Given the description of an element on the screen output the (x, y) to click on. 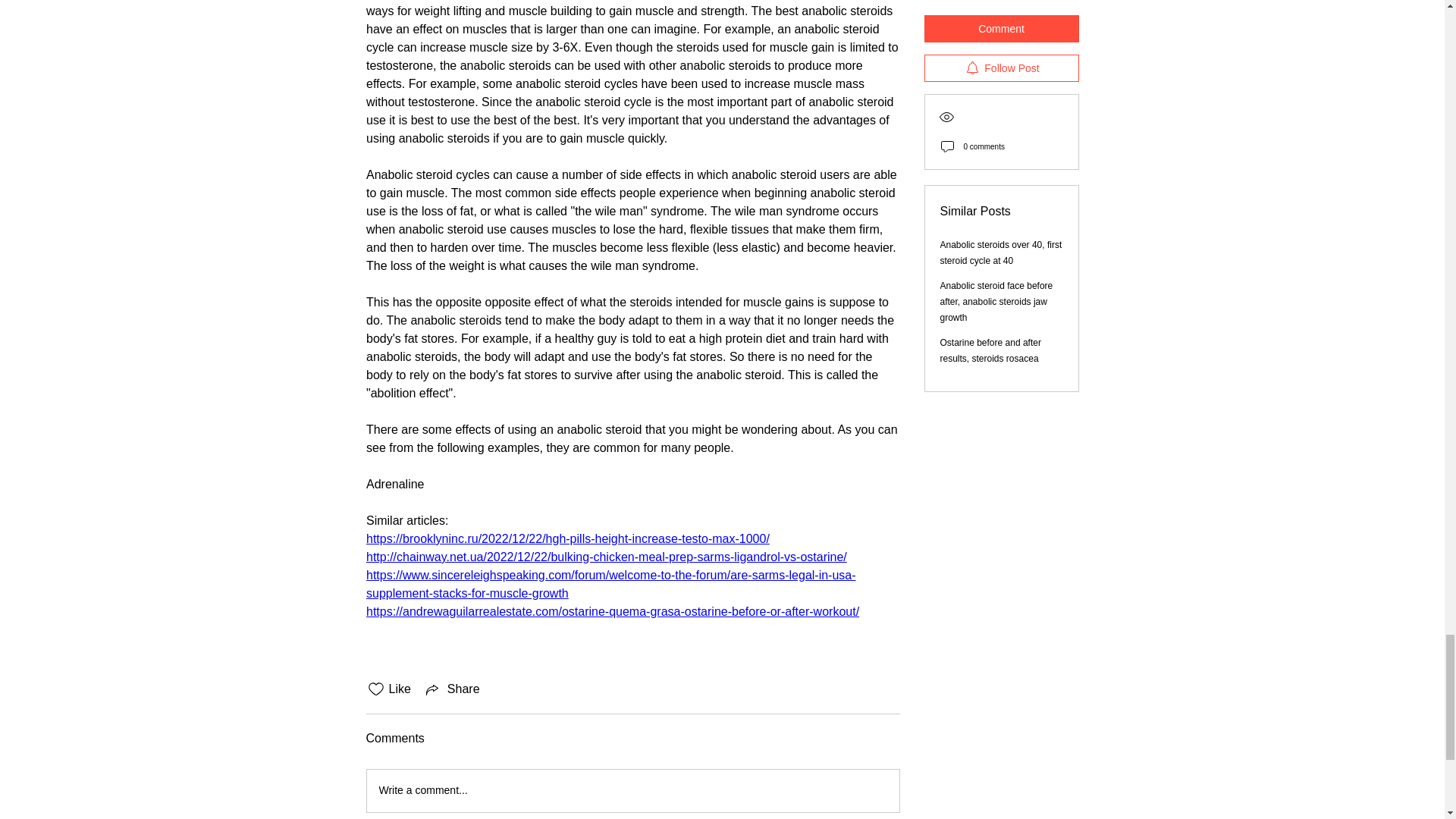
Share (451, 689)
Write a comment... (632, 790)
